Given the description of an element on the screen output the (x, y) to click on. 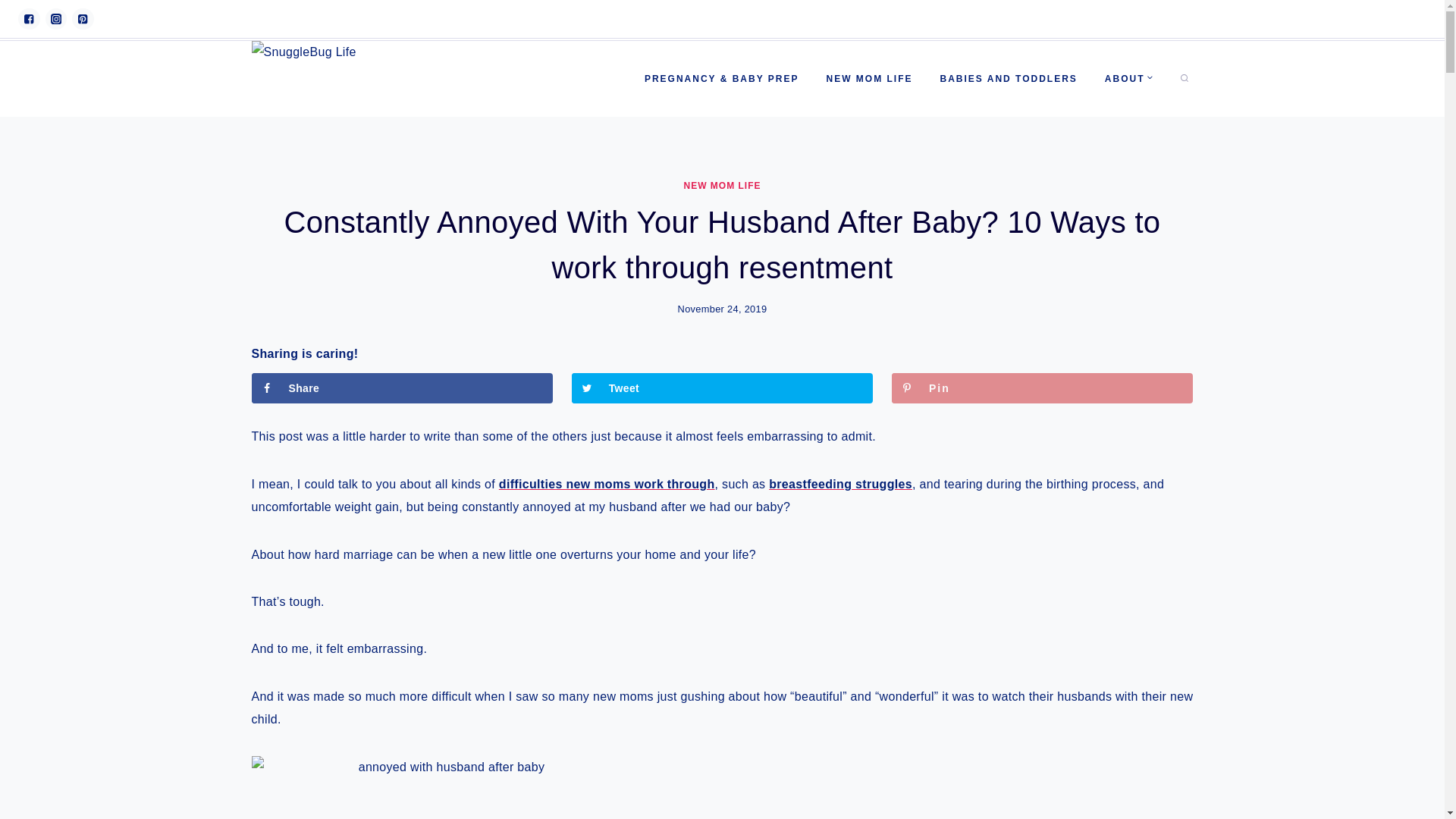
difficulties new moms work through (606, 483)
Tweet (722, 388)
Share on Facebook (402, 388)
Save to Pinterest (1041, 388)
breastfeeding struggles (840, 483)
NEW MOM LIFE (722, 185)
Share on Twitter (722, 388)
ABOUT (1128, 79)
NEW MOM LIFE (869, 79)
